Given the description of an element on the screen output the (x, y) to click on. 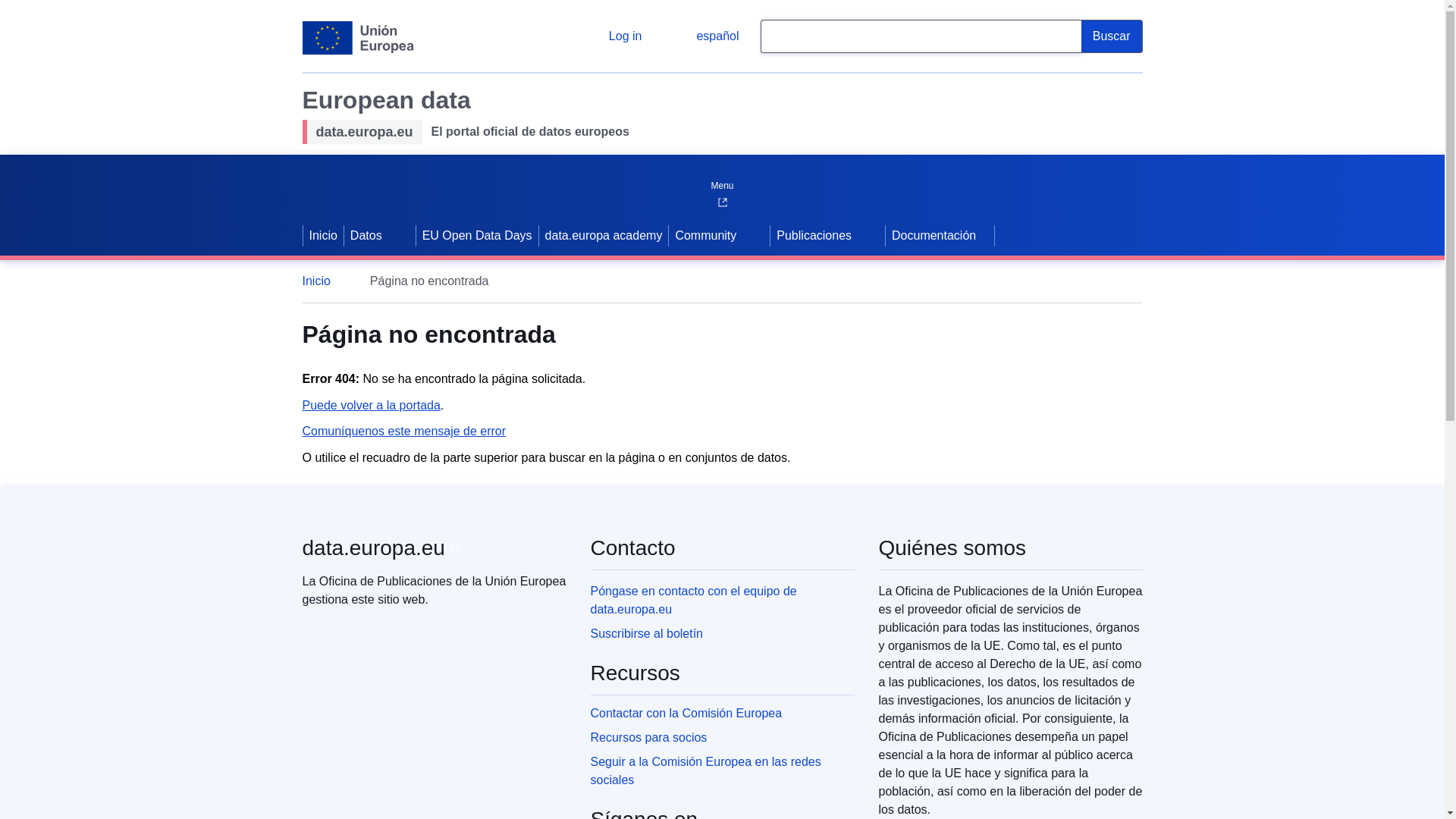
data.europa academy (603, 235)
European Union (357, 37)
Buscar (1111, 36)
Publicaciones (812, 235)
EU Open Data Days (477, 235)
Log in (612, 36)
Community (703, 235)
Inicio (322, 235)
Puede volver a la portada (370, 404)
Menu (721, 181)
Datos (364, 235)
Inicio (323, 280)
